Given the description of an element on the screen output the (x, y) to click on. 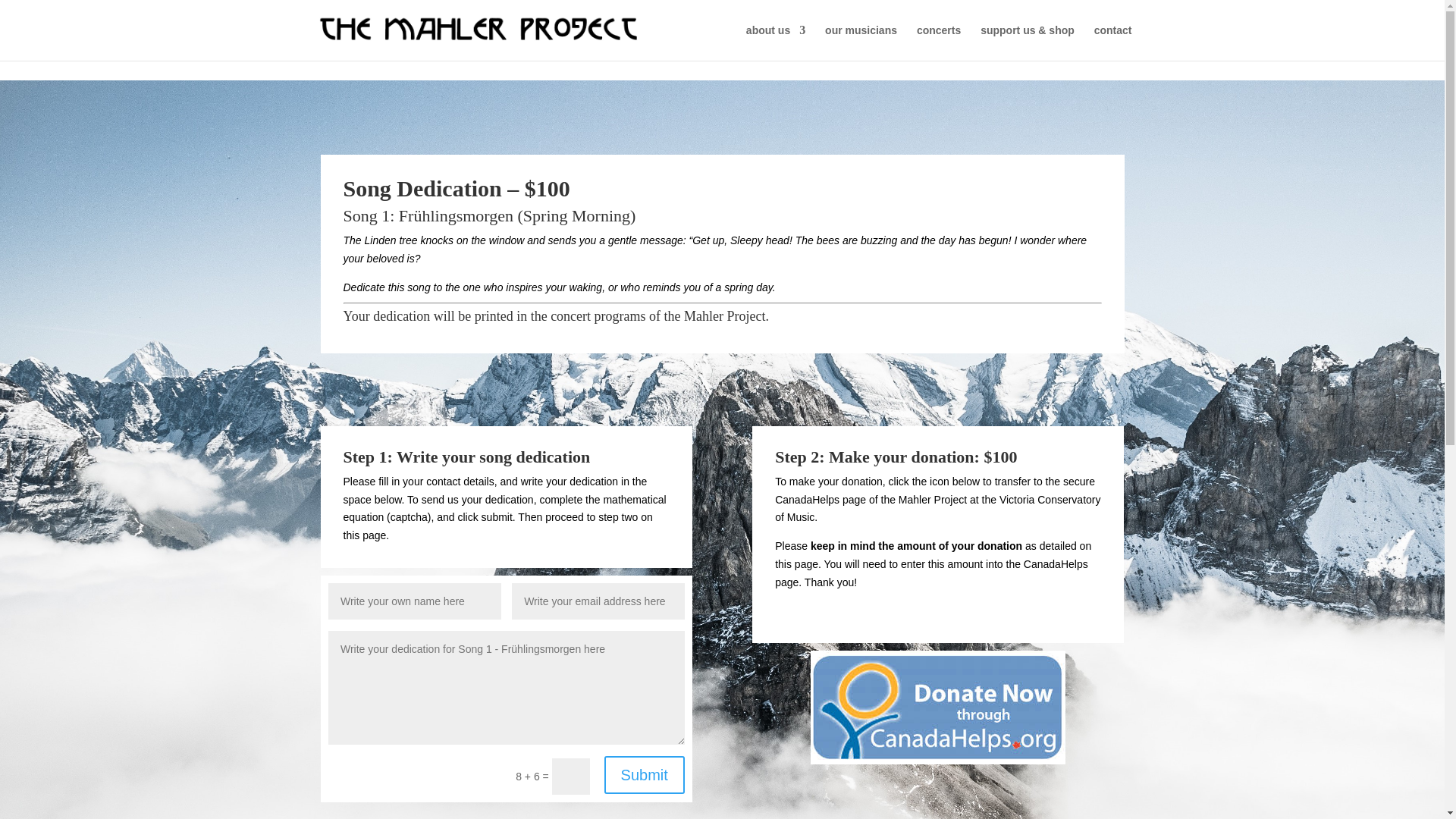
our musicians (860, 42)
contact (1113, 42)
concerts (938, 42)
Submit (644, 774)
about us (775, 42)
